Given the description of an element on the screen output the (x, y) to click on. 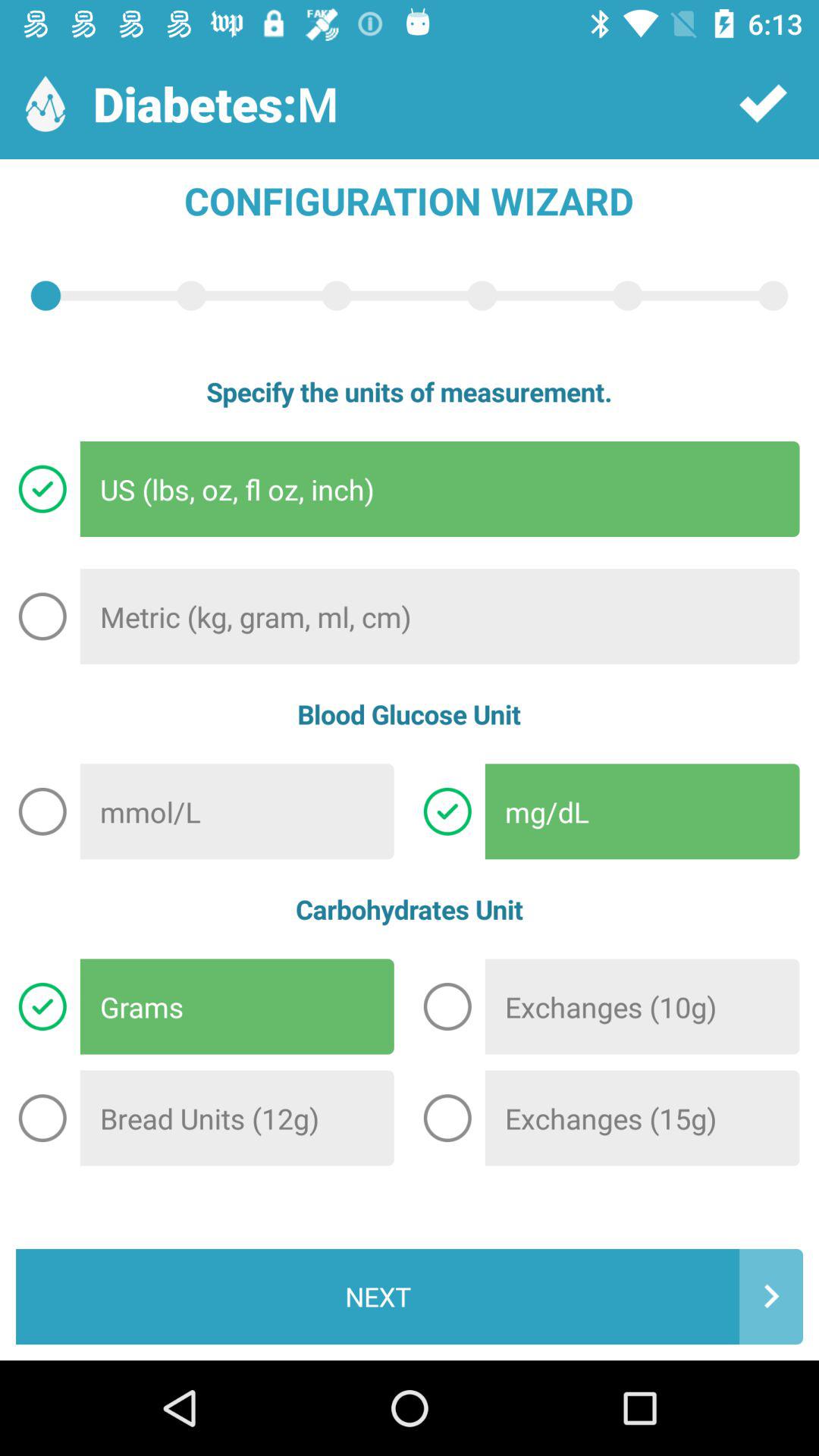
turn off item at the top right corner (763, 103)
